Given the description of an element on the screen output the (x, y) to click on. 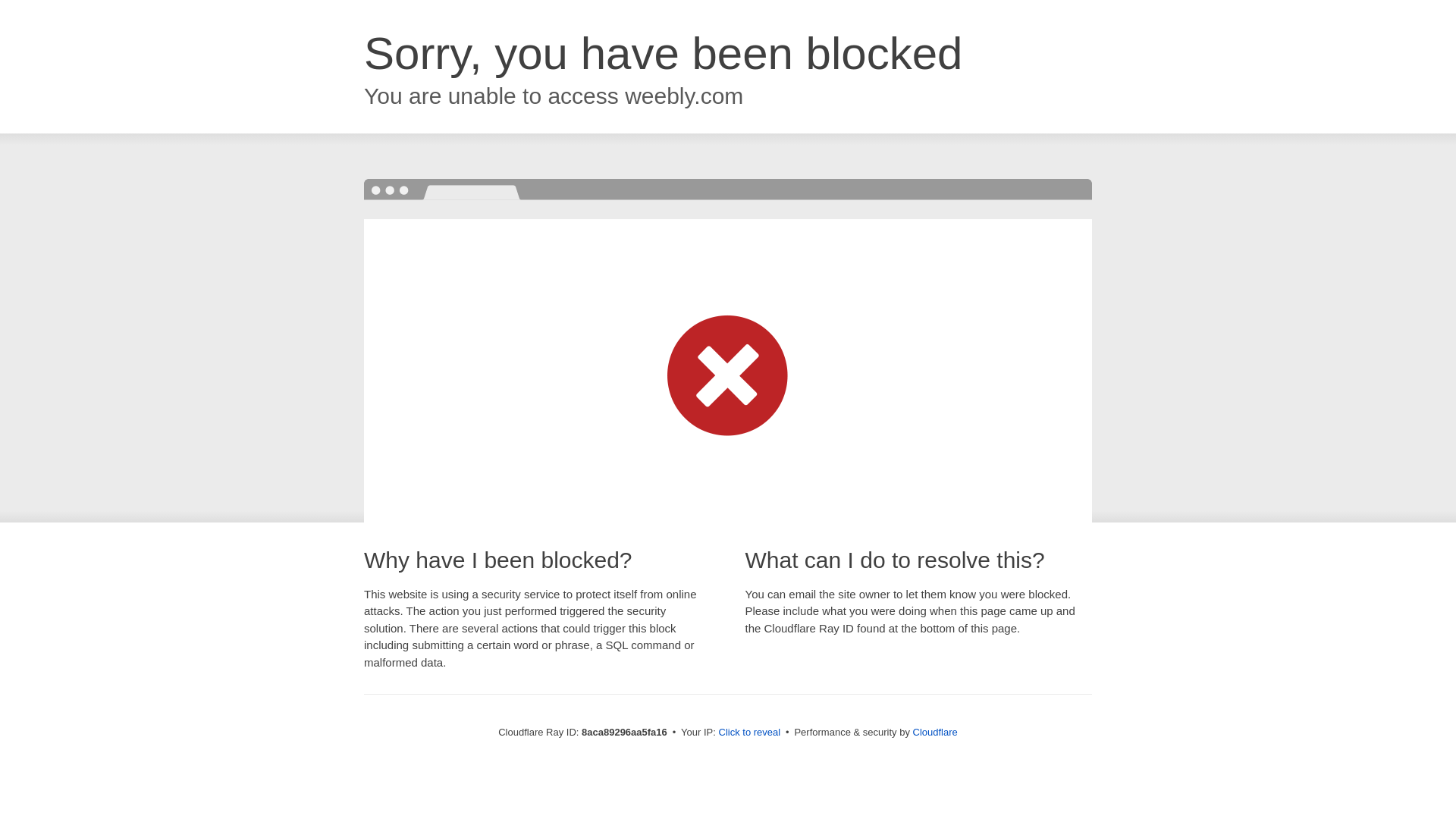
Cloudflare (935, 731)
Click to reveal (749, 732)
